Given the description of an element on the screen output the (x, y) to click on. 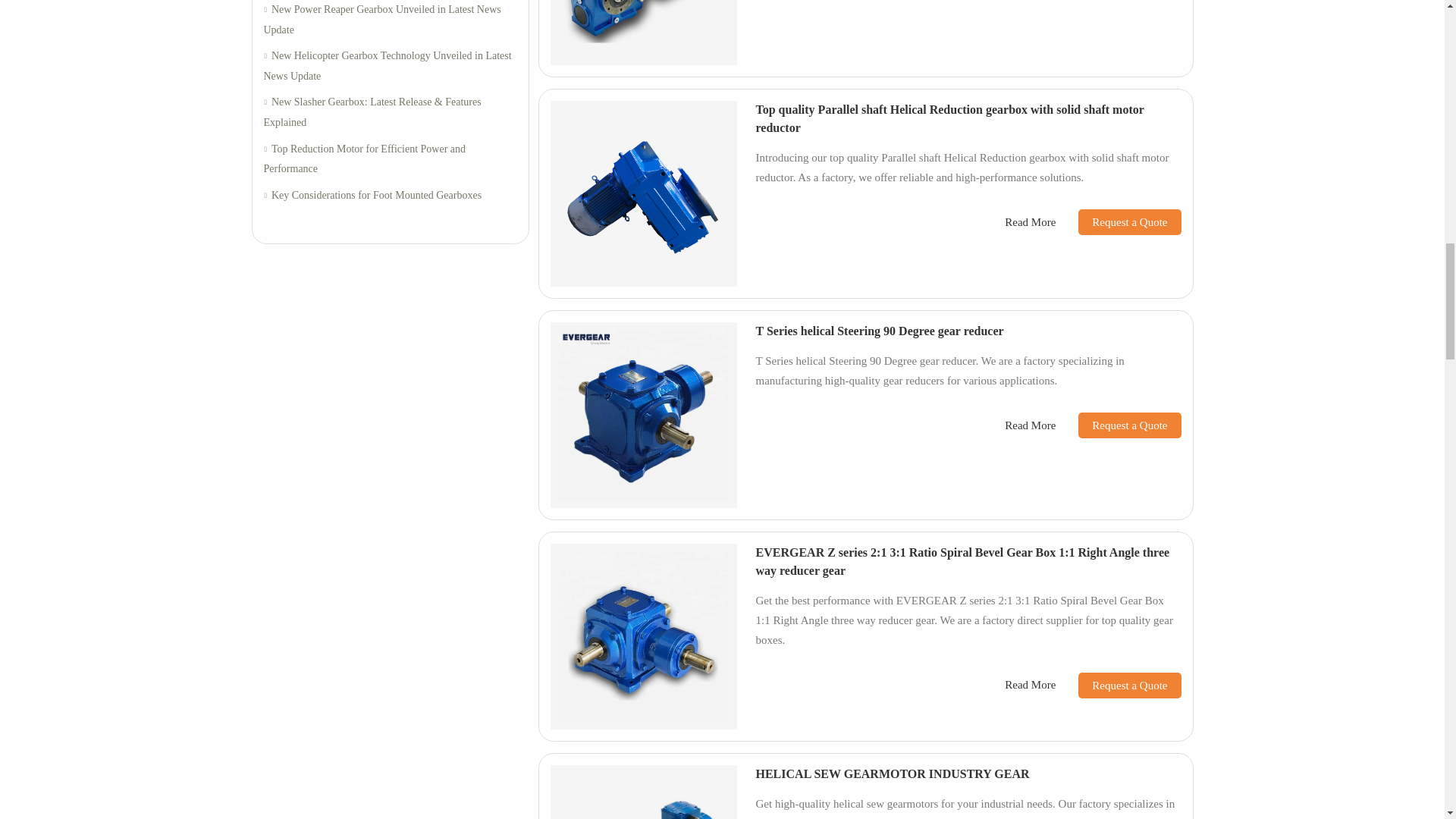
New Power Reaper Gearbox Unveiled in Latest News Update (389, 20)
Key Considerations for Foot Mounted Gearboxes (389, 195)
Top Reduction Motor for Efficient Power and Performance (389, 159)
